Given the description of an element on the screen output the (x, y) to click on. 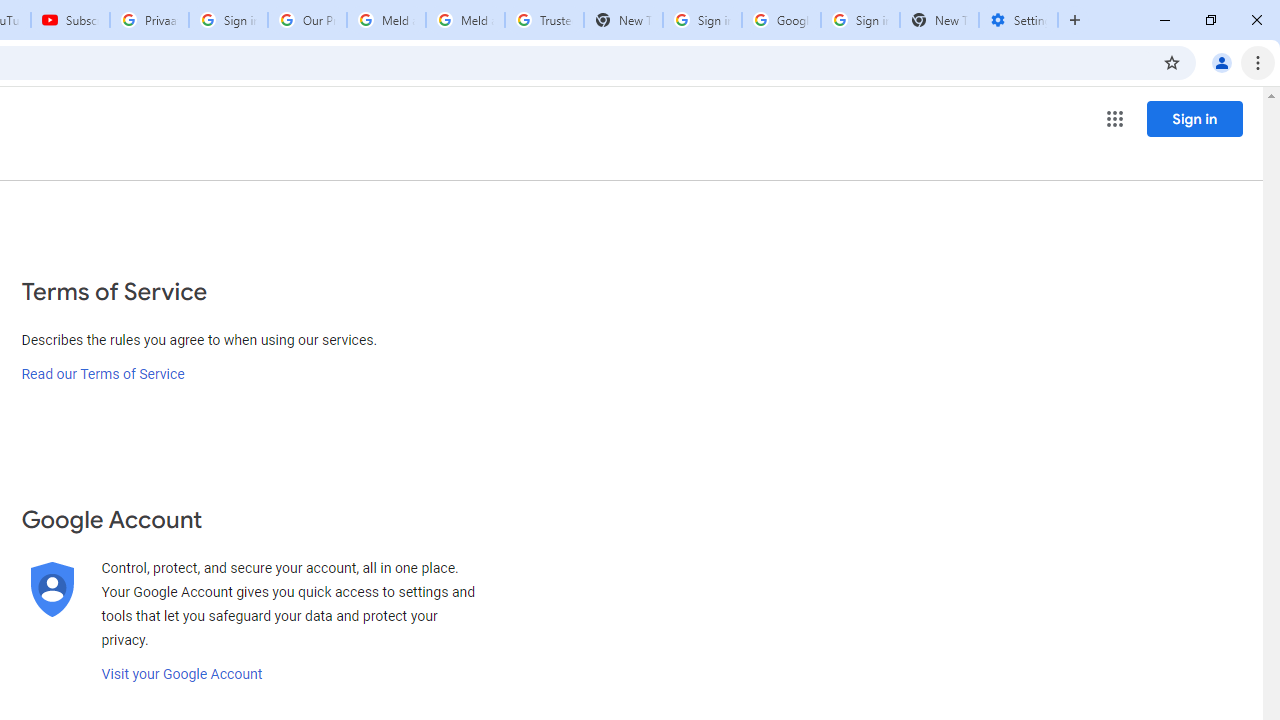
Sign in - Google Accounts (228, 20)
Google Cybersecurity Innovations - Google Safety Center (781, 20)
Sign in - Google Accounts (702, 20)
